Given the description of an element on the screen output the (x, y) to click on. 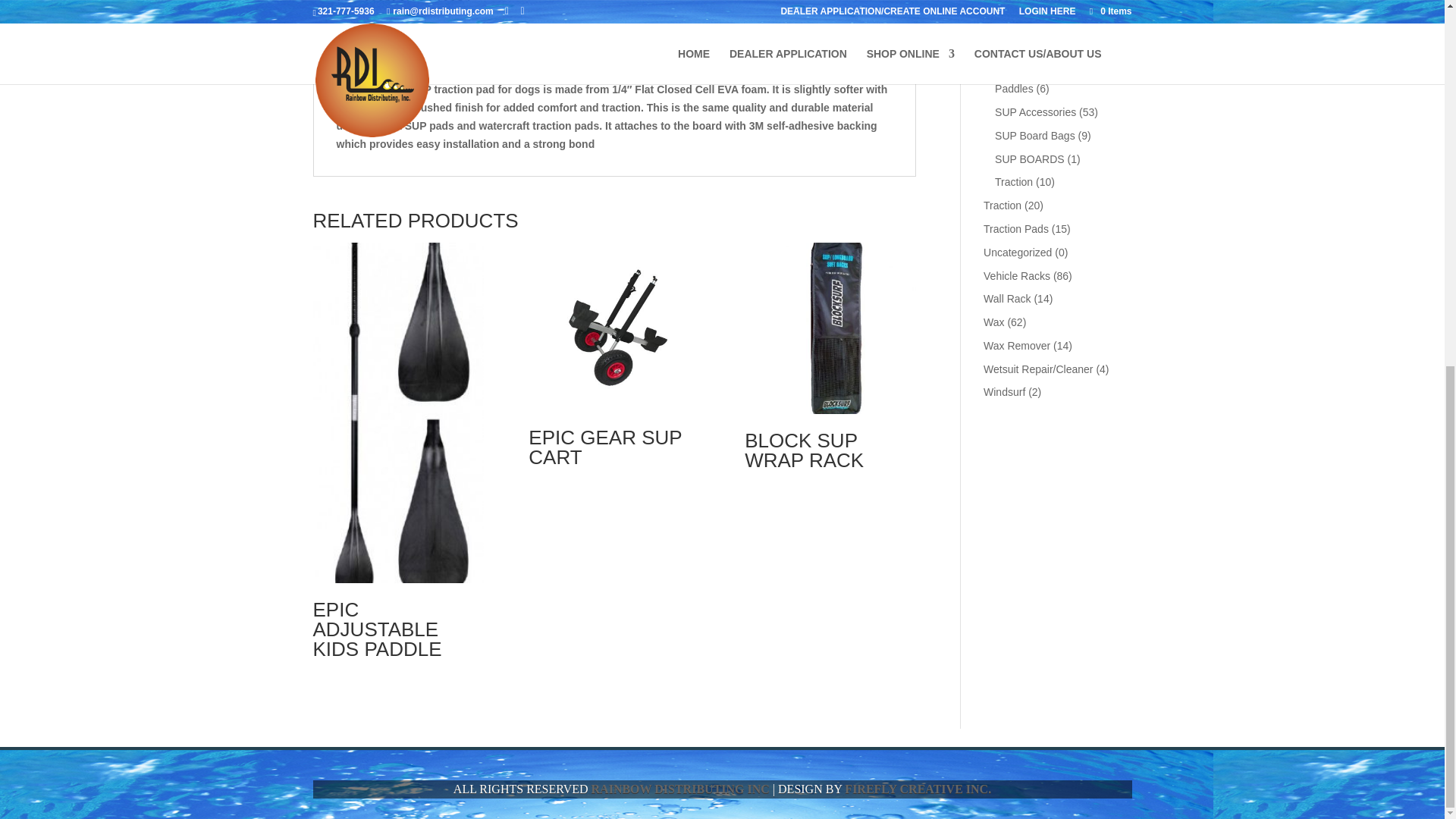
Rainbow Distributing Inc (680, 788)
